Given the description of an element on the screen output the (x, y) to click on. 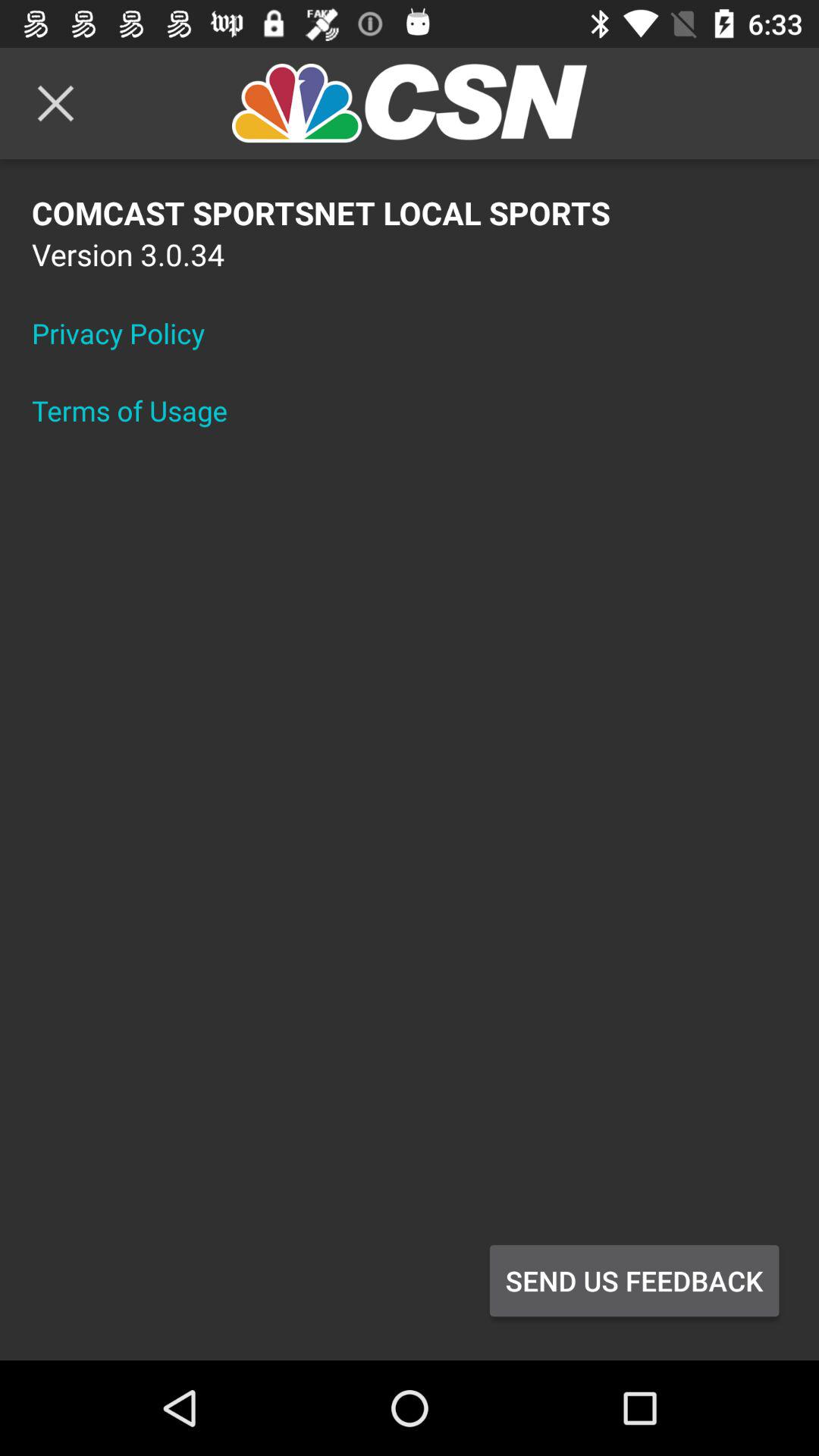
choose icon above comcast sportsnet local icon (55, 103)
